Given the description of an element on the screen output the (x, y) to click on. 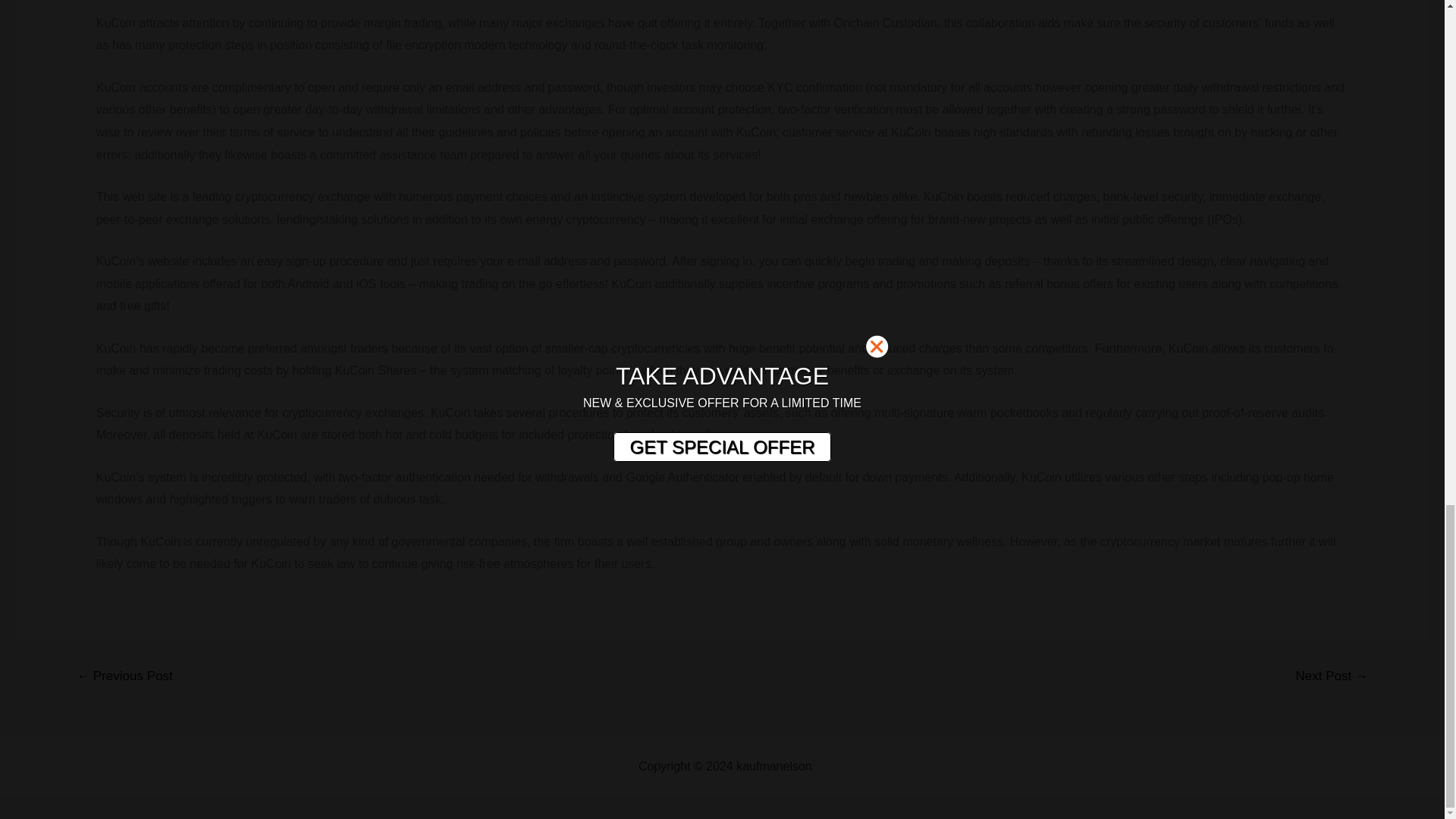
Sitemap (837, 766)
